Given the description of an element on the screen output the (x, y) to click on. 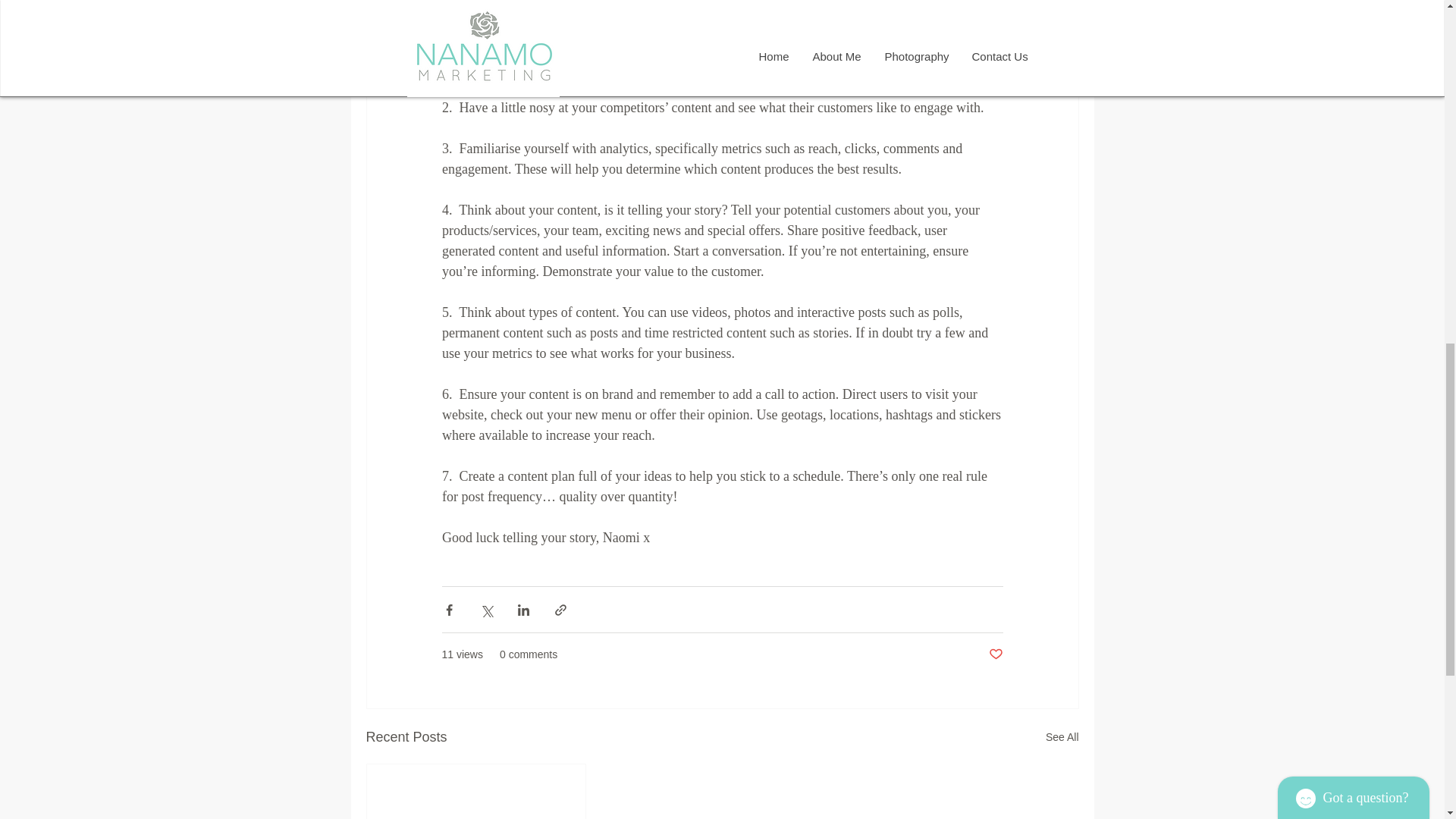
See All (1061, 737)
Post not marked as liked (995, 654)
